Given the description of an element on the screen output the (x, y) to click on. 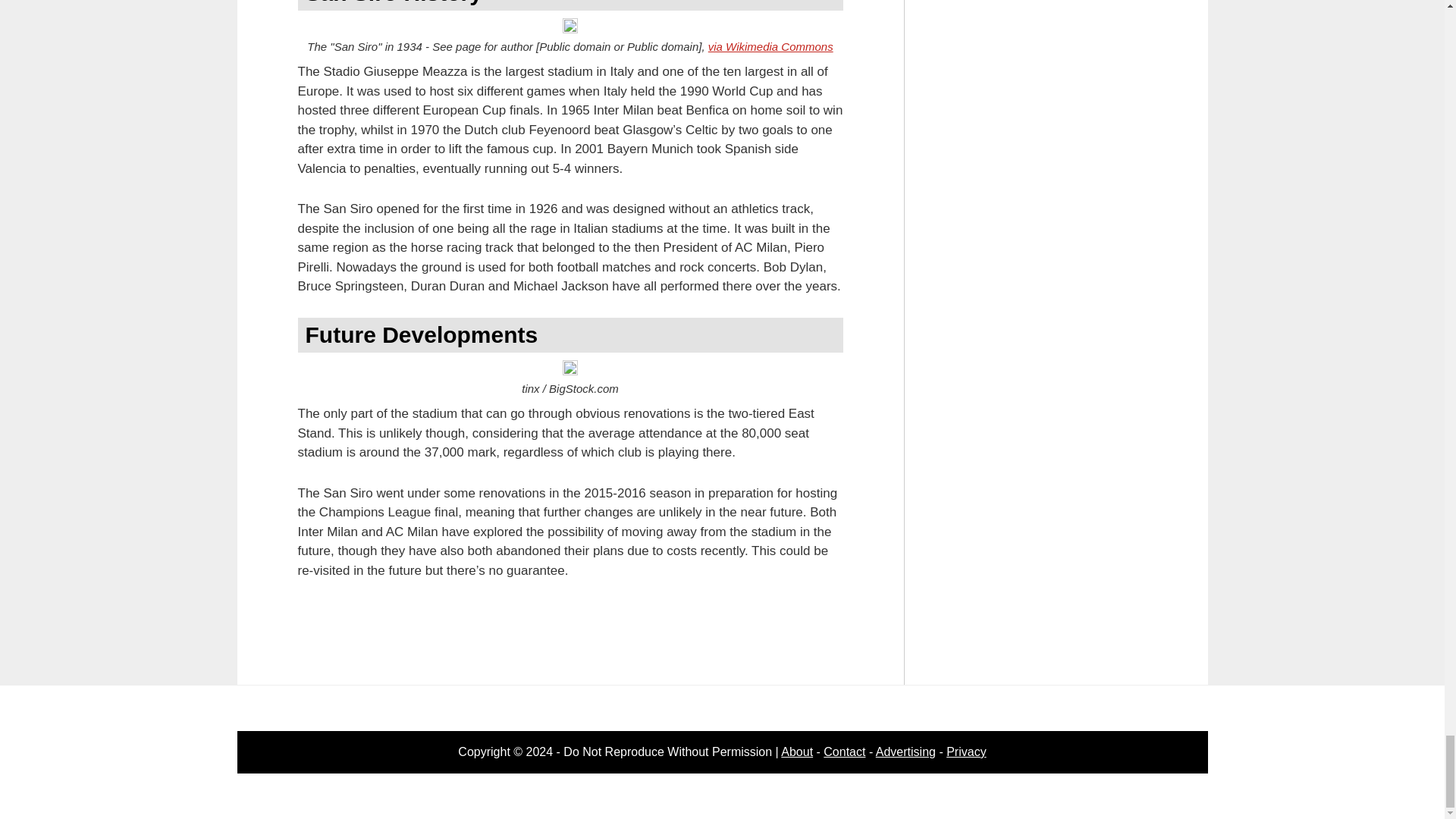
via Wikimedia Commons (769, 46)
